Given the description of an element on the screen output the (x, y) to click on. 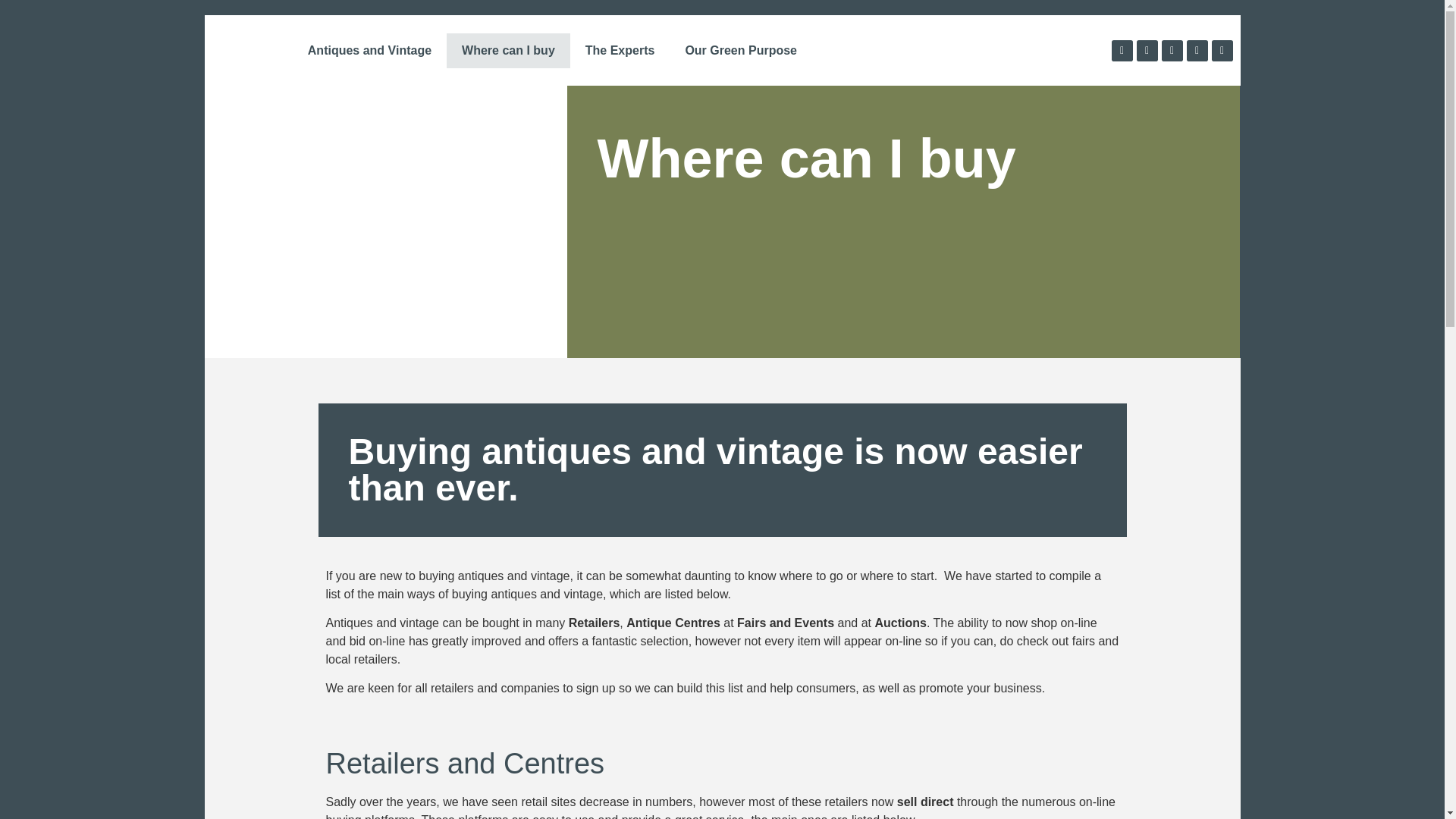
The Experts (619, 50)
Antiques and Vintage (369, 50)
Our Green Purpose (740, 50)
Where can I buy (508, 50)
